Given the description of an element on the screen output the (x, y) to click on. 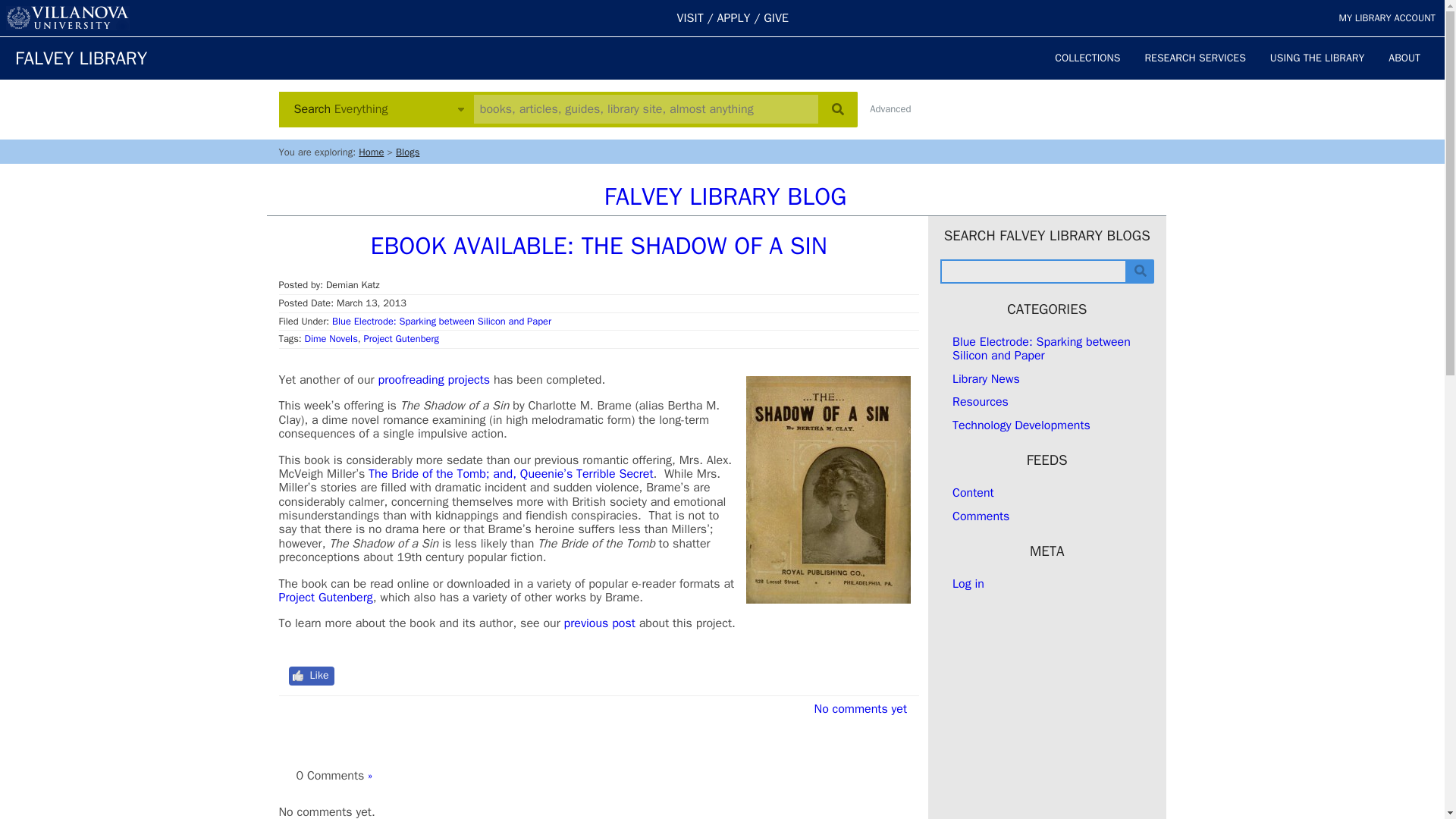
APPLY (734, 17)
GIVE (775, 17)
RESEARCH SERVICES (1194, 57)
VISIT (690, 17)
Syndicate this site using RSS (973, 492)
The latest comments to all posts in RSS (980, 516)
COLLECTIONS (1087, 57)
MY LIBRARY ACCOUNT (1386, 18)
